Given the description of an element on the screen output the (x, y) to click on. 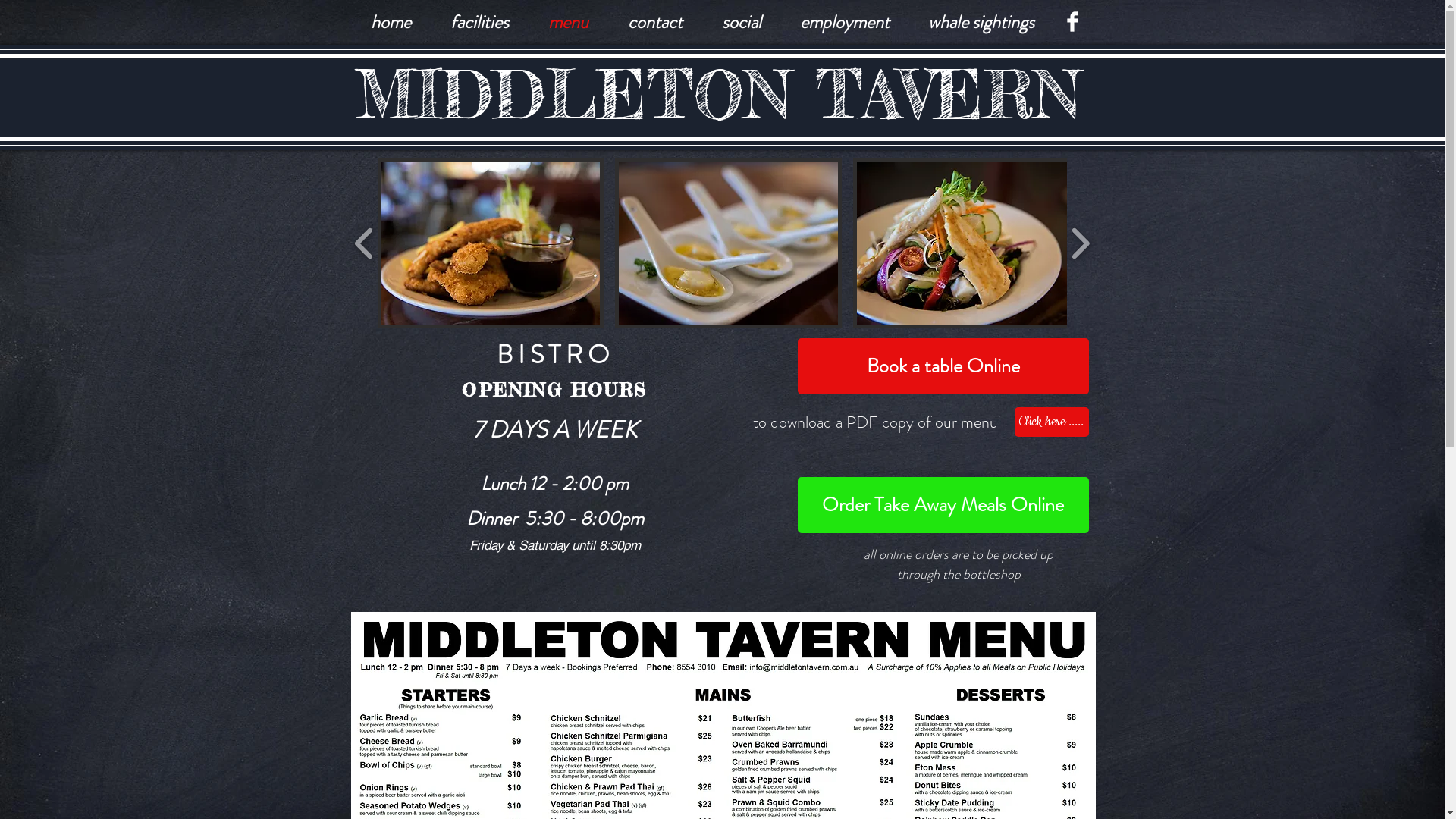
MIDDLETON TAVERN Element type: text (717, 94)
Book a table Online Element type: text (942, 366)
social Element type: text (741, 21)
menu Element type: text (567, 21)
home Element type: text (389, 21)
employment Element type: text (845, 21)
Click here ..... Element type: text (1051, 421)
contact Element type: text (655, 21)
whale sightings Element type: text (980, 21)
Order Take Away Meals Online Element type: text (942, 504)
